Given the description of an element on the screen output the (x, y) to click on. 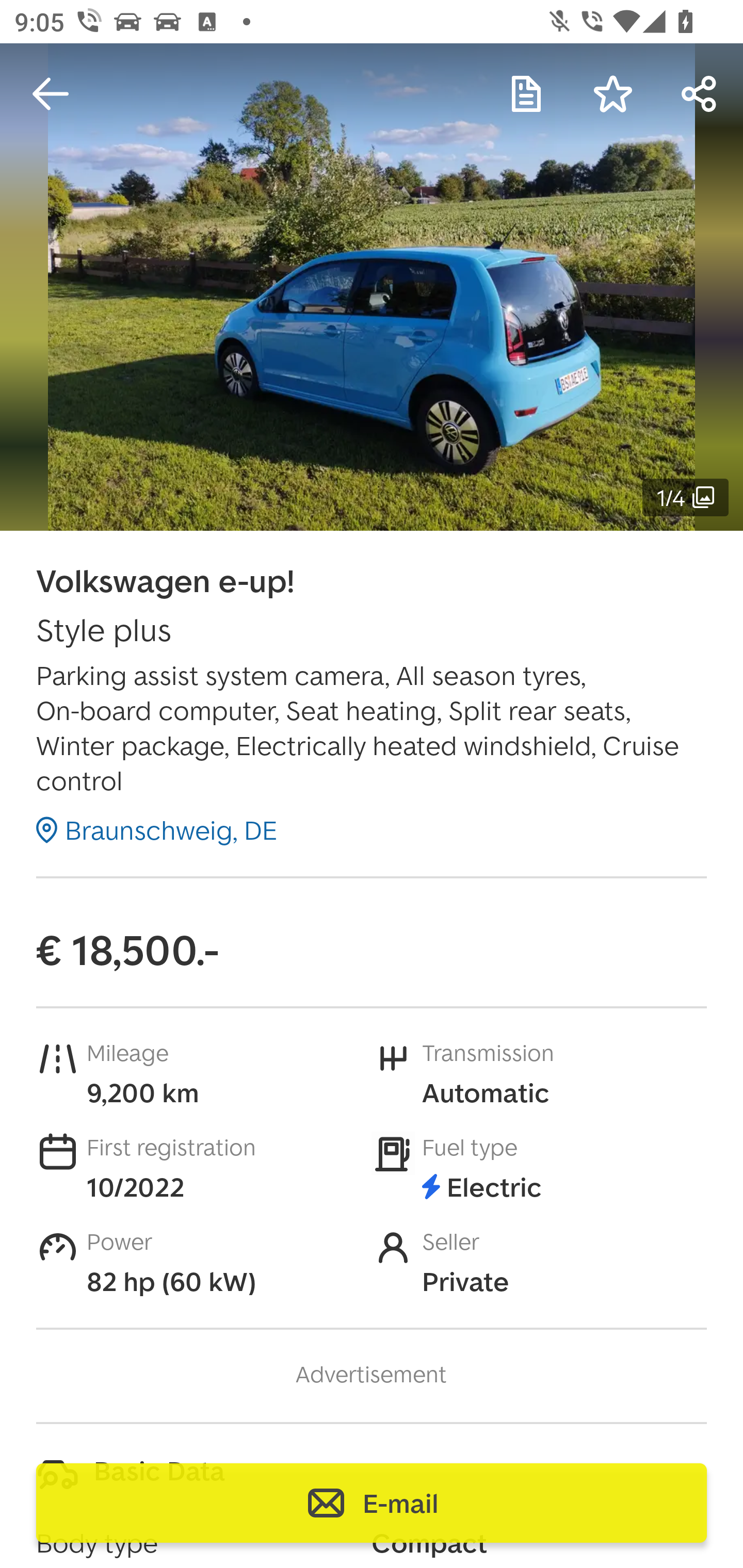
Navigate up (50, 93)
My Notes (525, 93)
Save (612, 93)
Forward (699, 93)
Braunschweig, DE (156, 829)
E-mail (371, 1502)
